Given the description of an element on the screen output the (x, y) to click on. 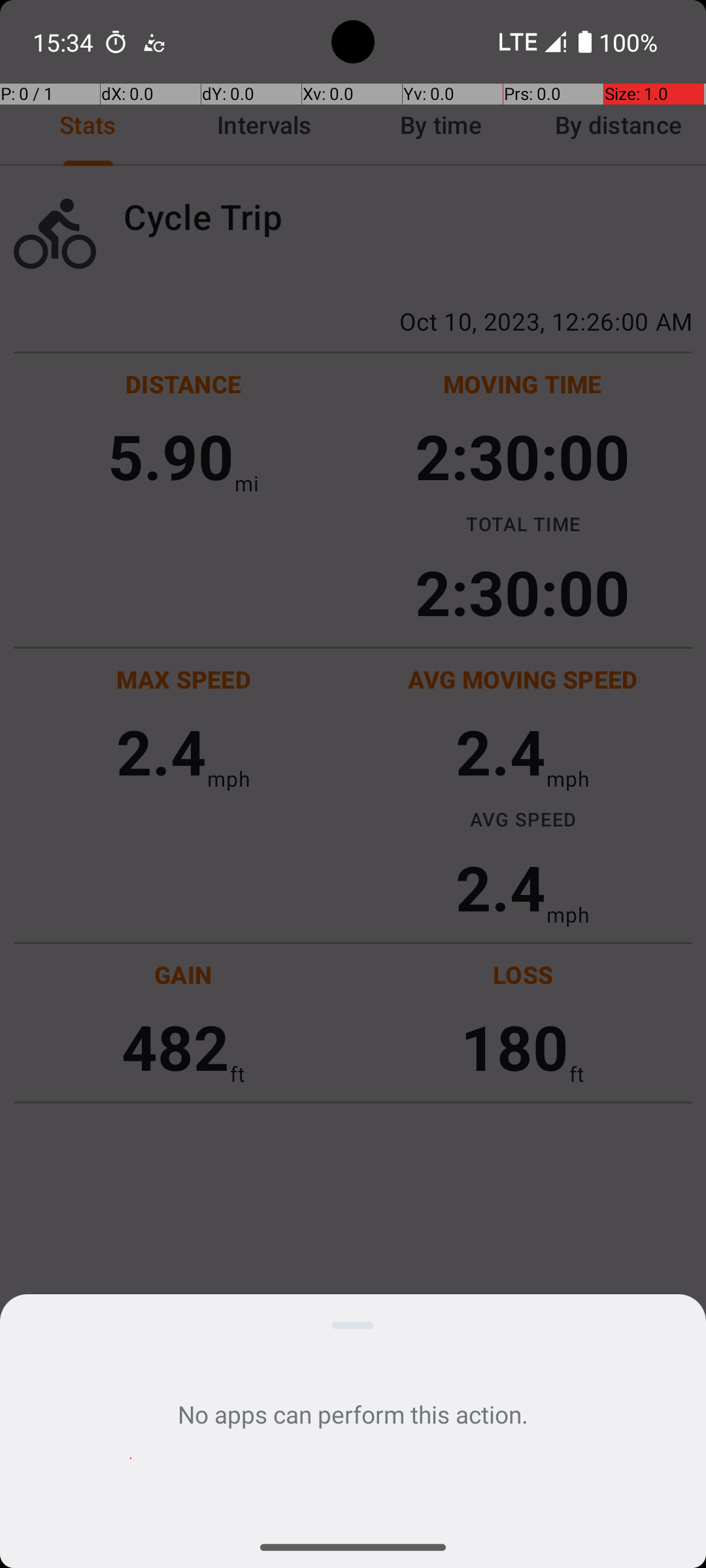
No apps can perform this action. Element type: android.widget.TextView (352, 1413)
